Given the description of an element on the screen output the (x, y) to click on. 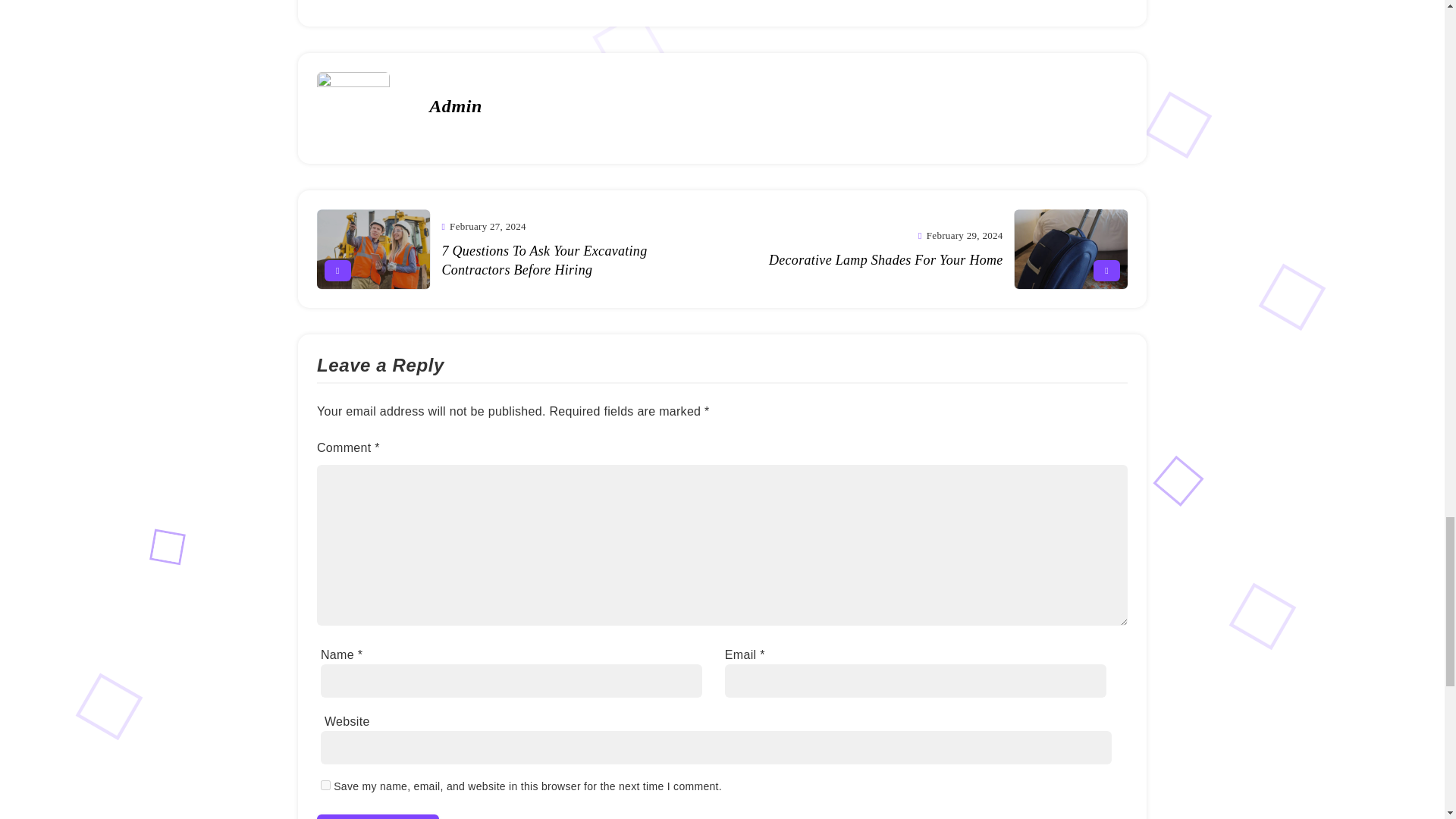
Admin (455, 106)
Post Comment (378, 816)
Post Comment (378, 816)
yes (325, 785)
